Given the description of an element on the screen output the (x, y) to click on. 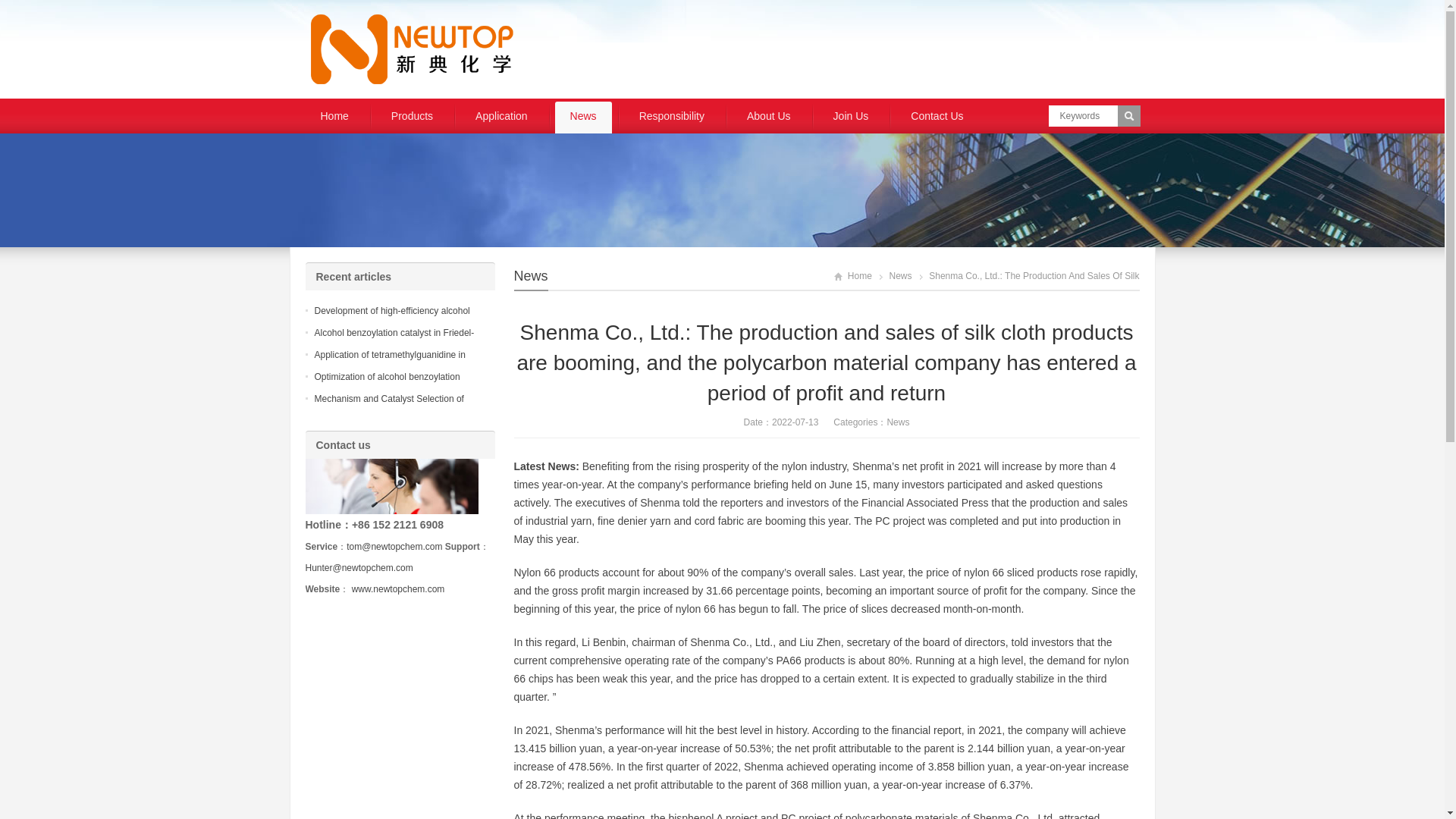
Search (1129, 115)
Join Us (850, 117)
News (900, 276)
Search (1129, 115)
Application (501, 117)
Contact Us (936, 117)
Contact us (390, 486)
News (582, 117)
Home (853, 276)
Search (1129, 115)
Mechanism and Catalyst Selection of Benzoylation of Alcohols (388, 407)
Home (333, 117)
